Given the description of an element on the screen output the (x, y) to click on. 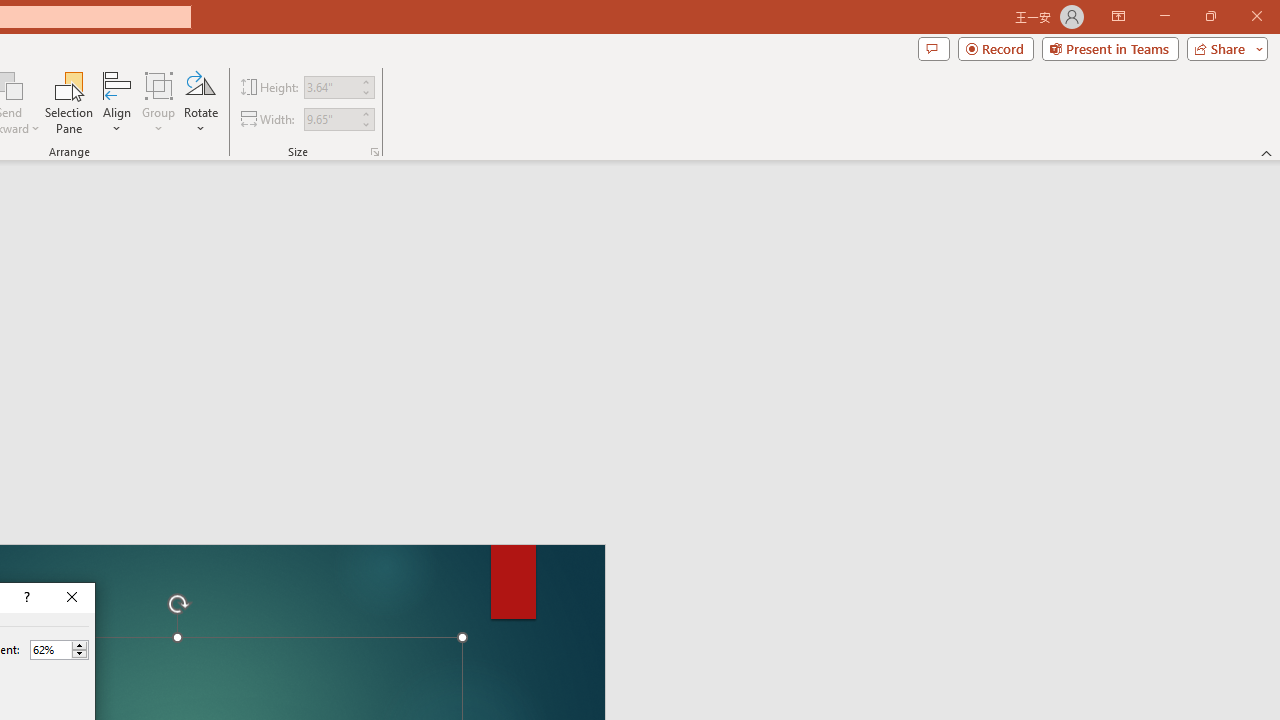
Context help (25, 597)
Group (159, 102)
Selection Pane... (69, 102)
Size and Position... (374, 151)
